Given the description of an element on the screen output the (x, y) to click on. 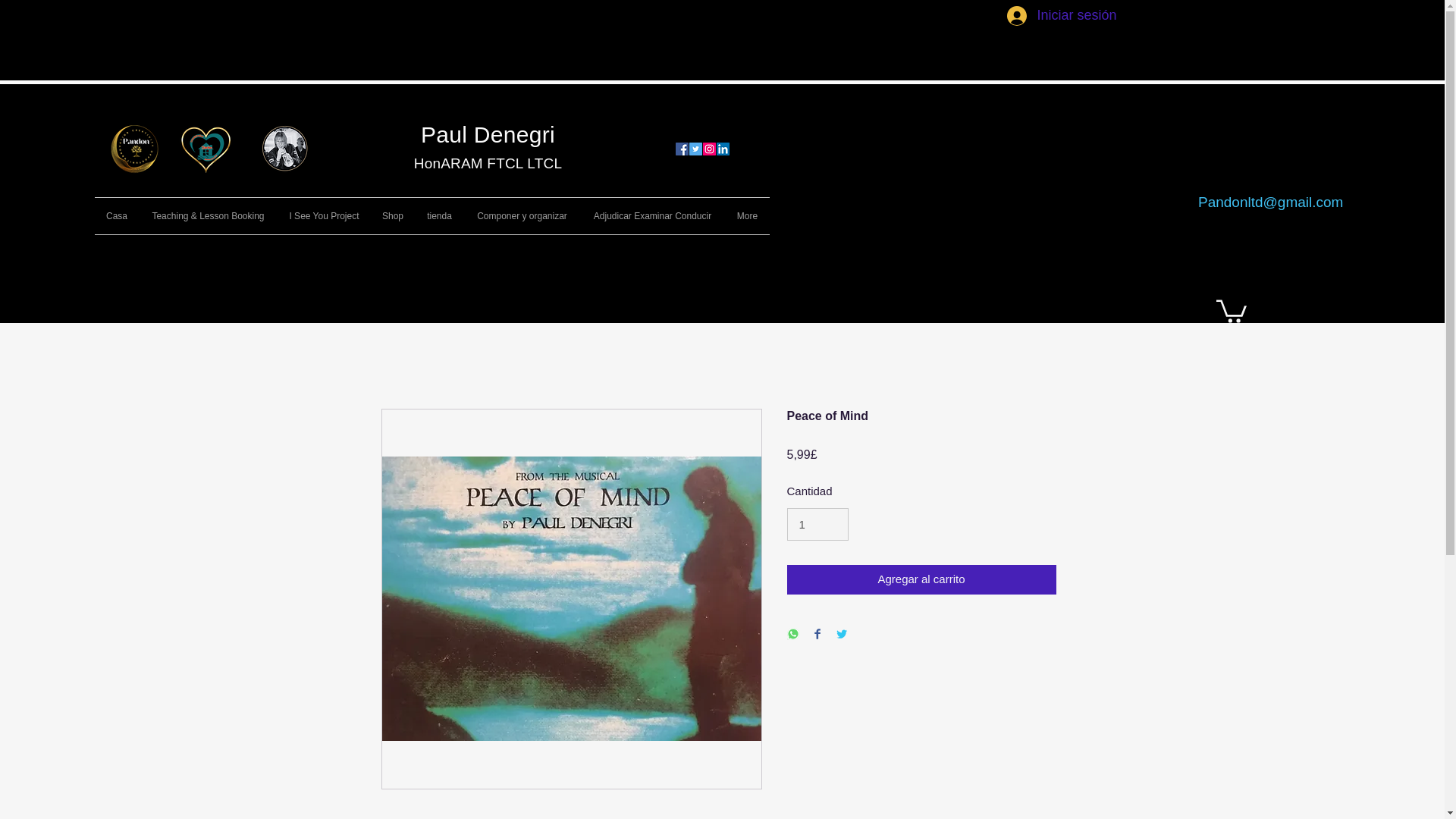
Componer y organizar (521, 216)
I See You Project (324, 216)
1 (817, 524)
Shop (392, 216)
tienda (439, 216)
Casa (116, 216)
Adjudicar Examinar Conducir (652, 216)
Agregar al carrito (922, 579)
